Given the description of an element on the screen output the (x, y) to click on. 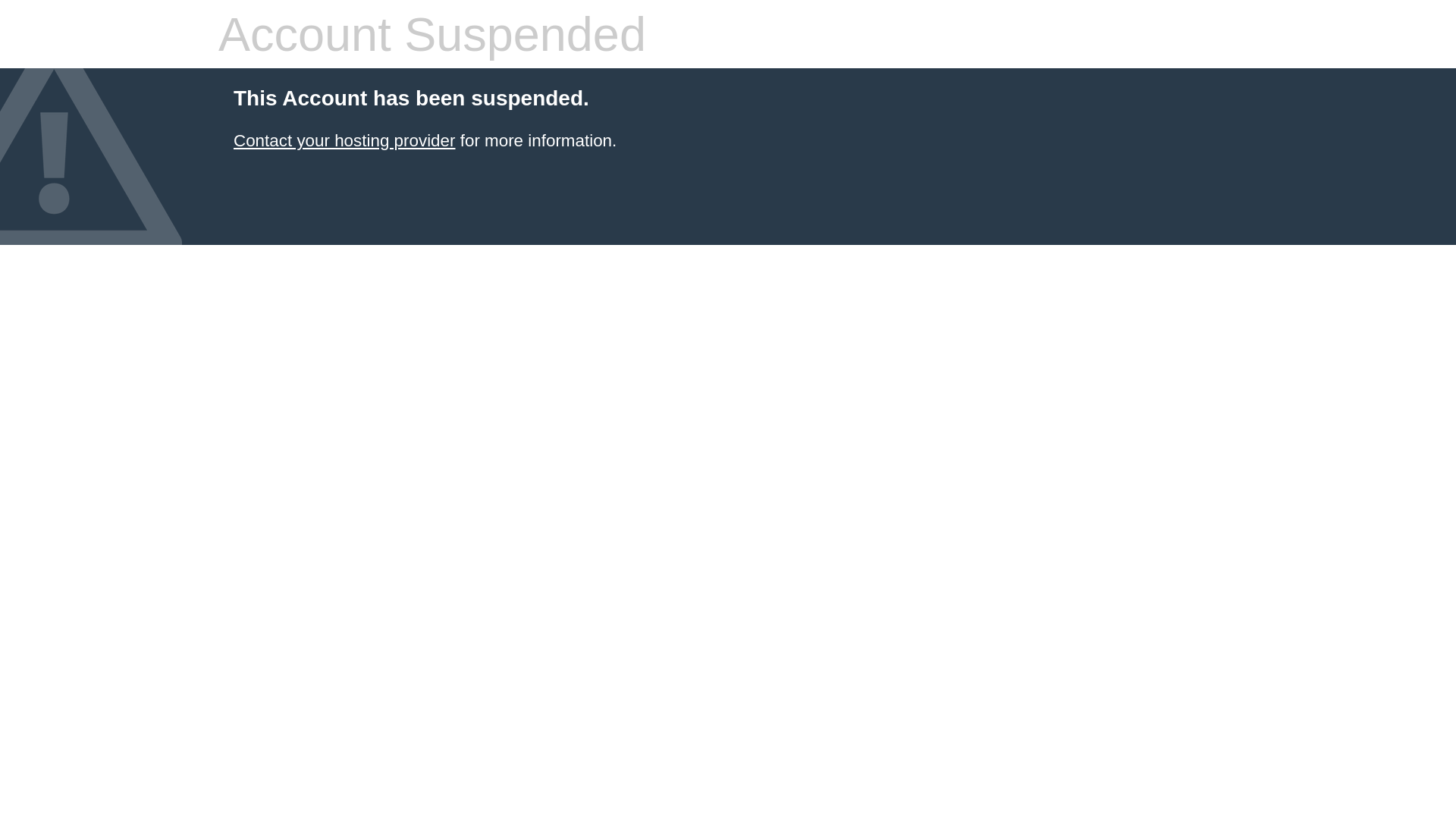
Contact your hosting provider Element type: text (344, 140)
